Given the description of an element on the screen output the (x, y) to click on. 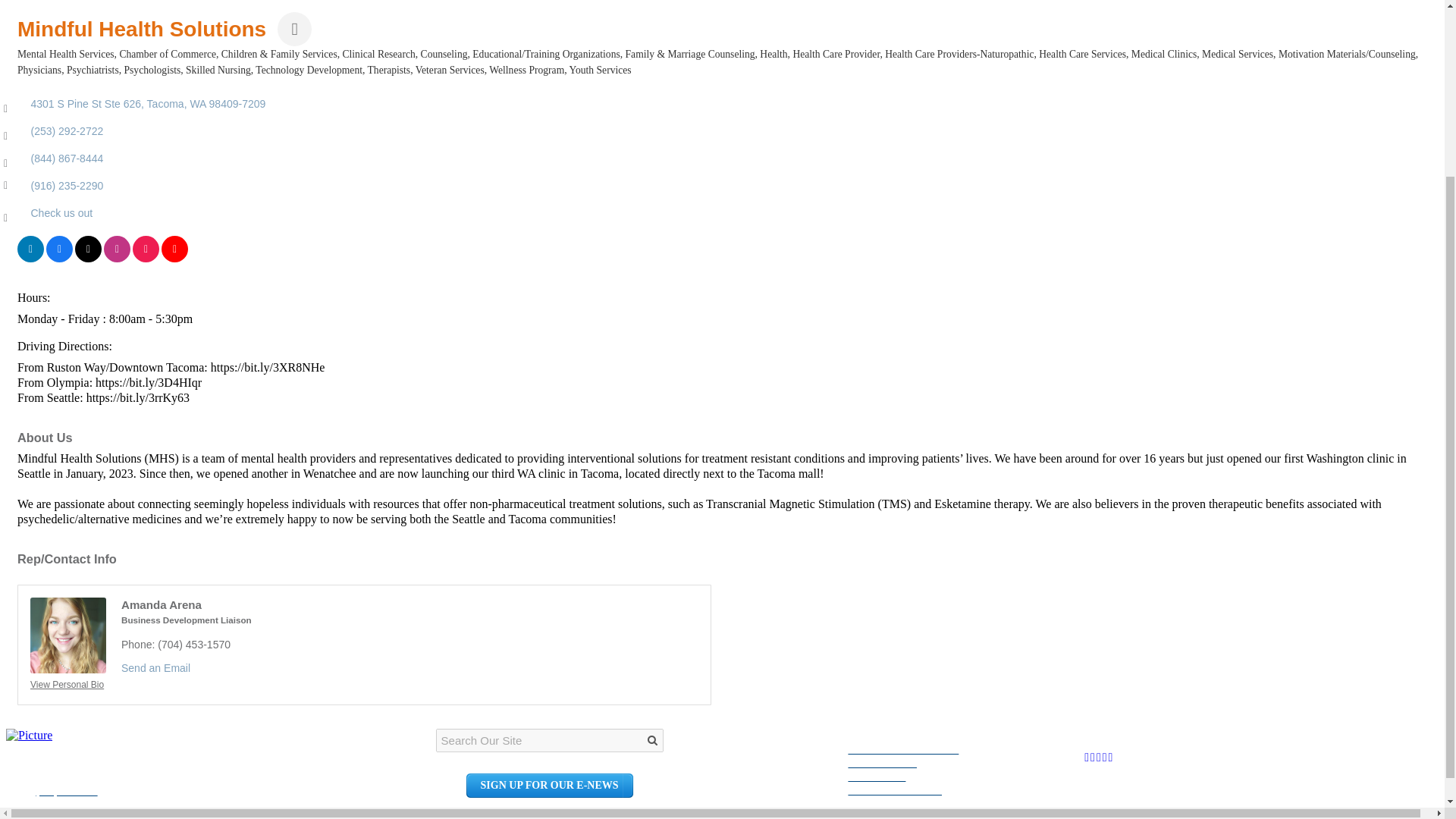
Search (652, 740)
View on Facebook (59, 258)
View on TikTok (145, 258)
View on LinkedIn (30, 258)
View on YouTube (174, 258)
View on Twitter (88, 258)
View on Instagram (117, 258)
